Given the description of an element on the screen output the (x, y) to click on. 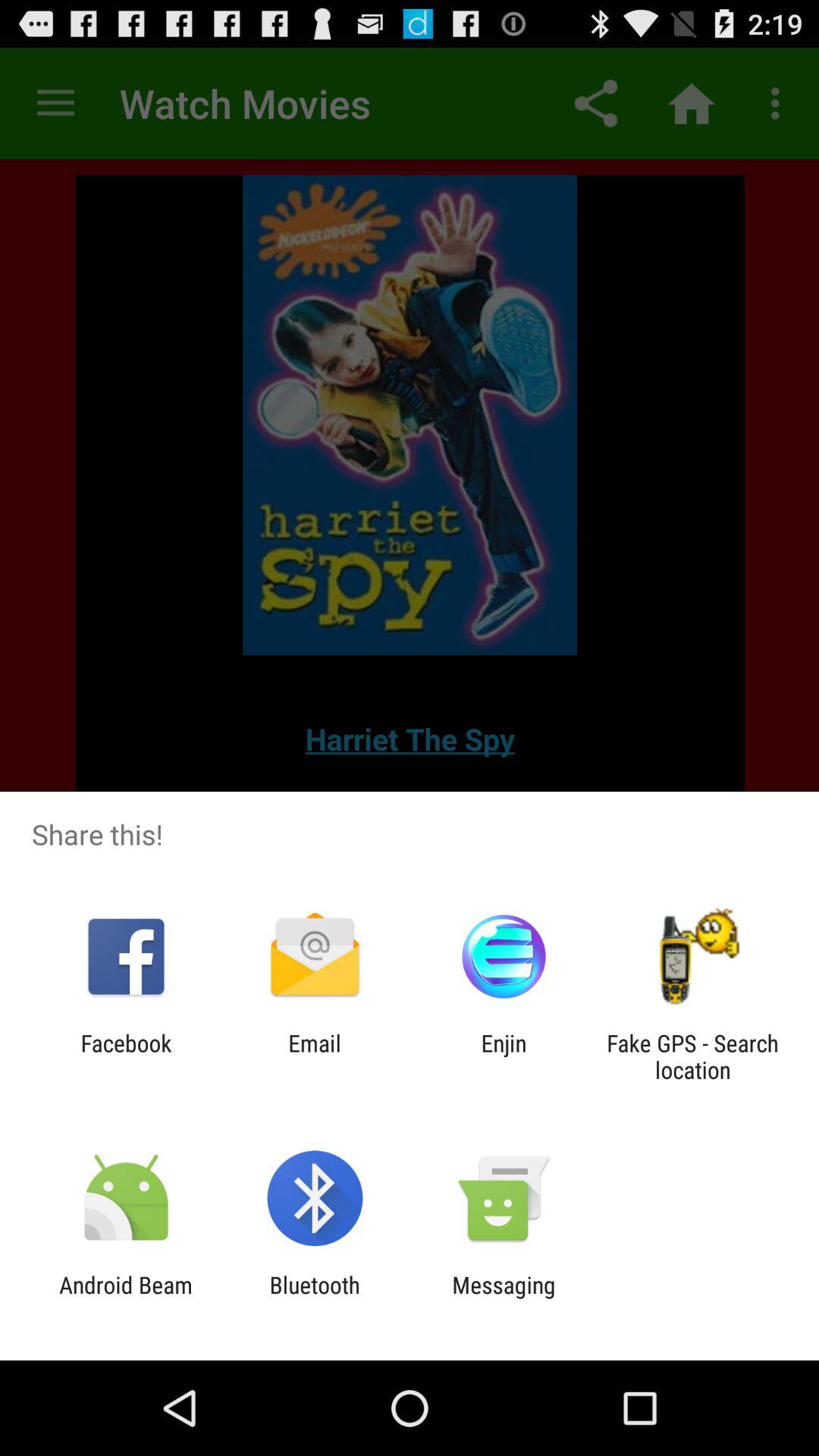
press icon to the left of the email icon (125, 1056)
